Given the description of an element on the screen output the (x, y) to click on. 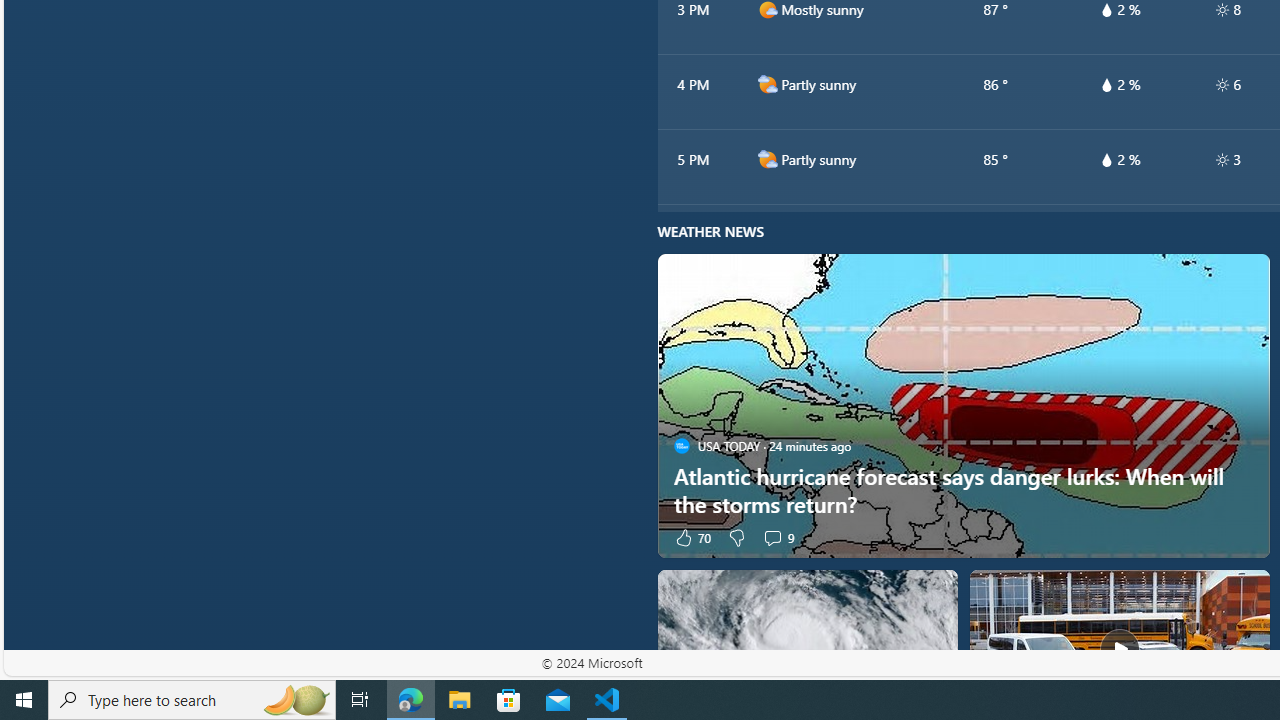
View comments 9 Comment (772, 537)
70 Like (692, 537)
d2000 (767, 159)
USA TODAY (681, 445)
hourlyTable/uv (1222, 159)
View comments 9 Comment (777, 537)
hourlyTable/drop (1106, 159)
d1000 (767, 10)
